Given the description of an element on the screen output the (x, y) to click on. 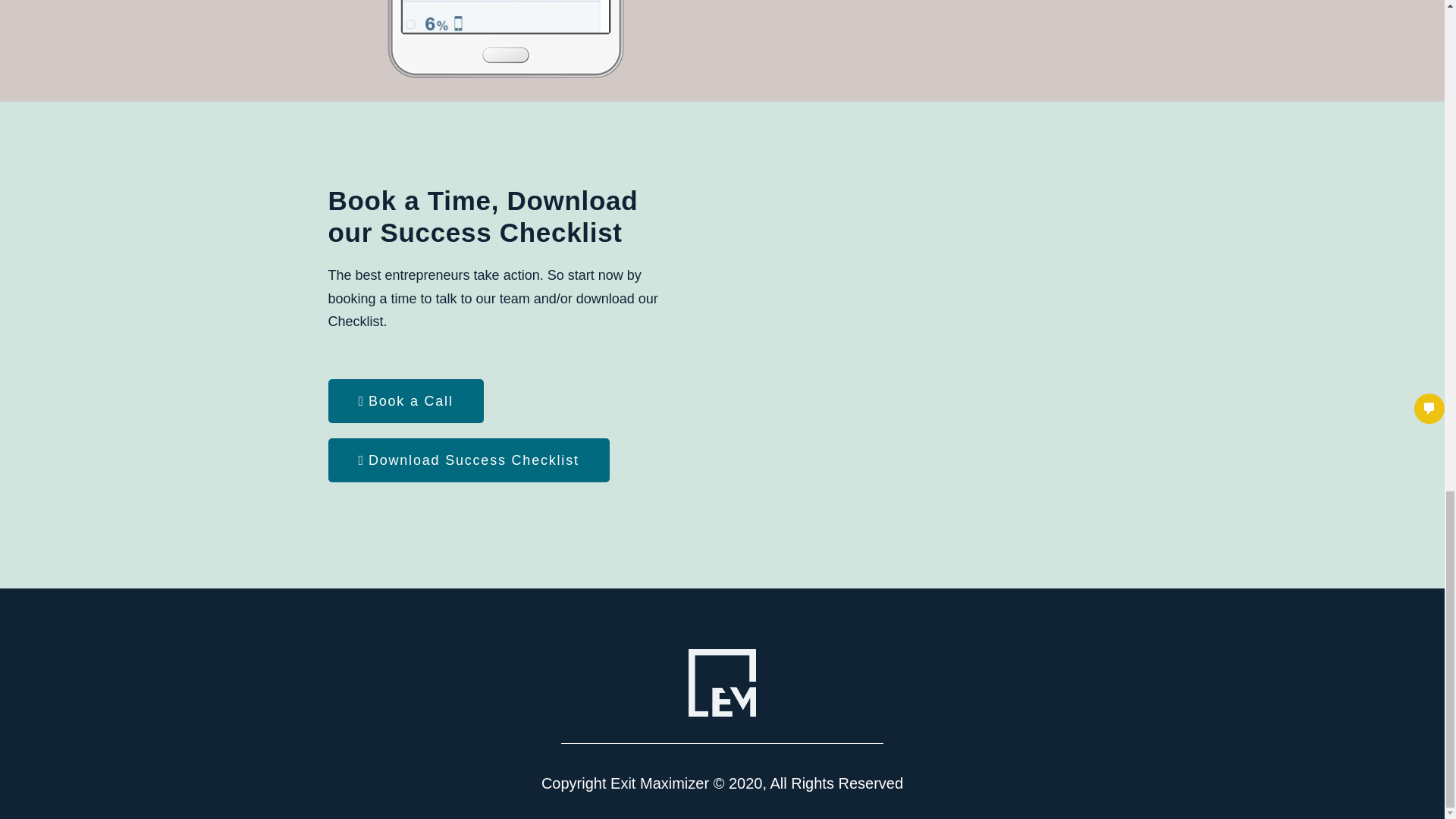
Book a Call (405, 401)
Download Success Checklist (467, 460)
software (505, 43)
